Given the description of an element on the screen output the (x, y) to click on. 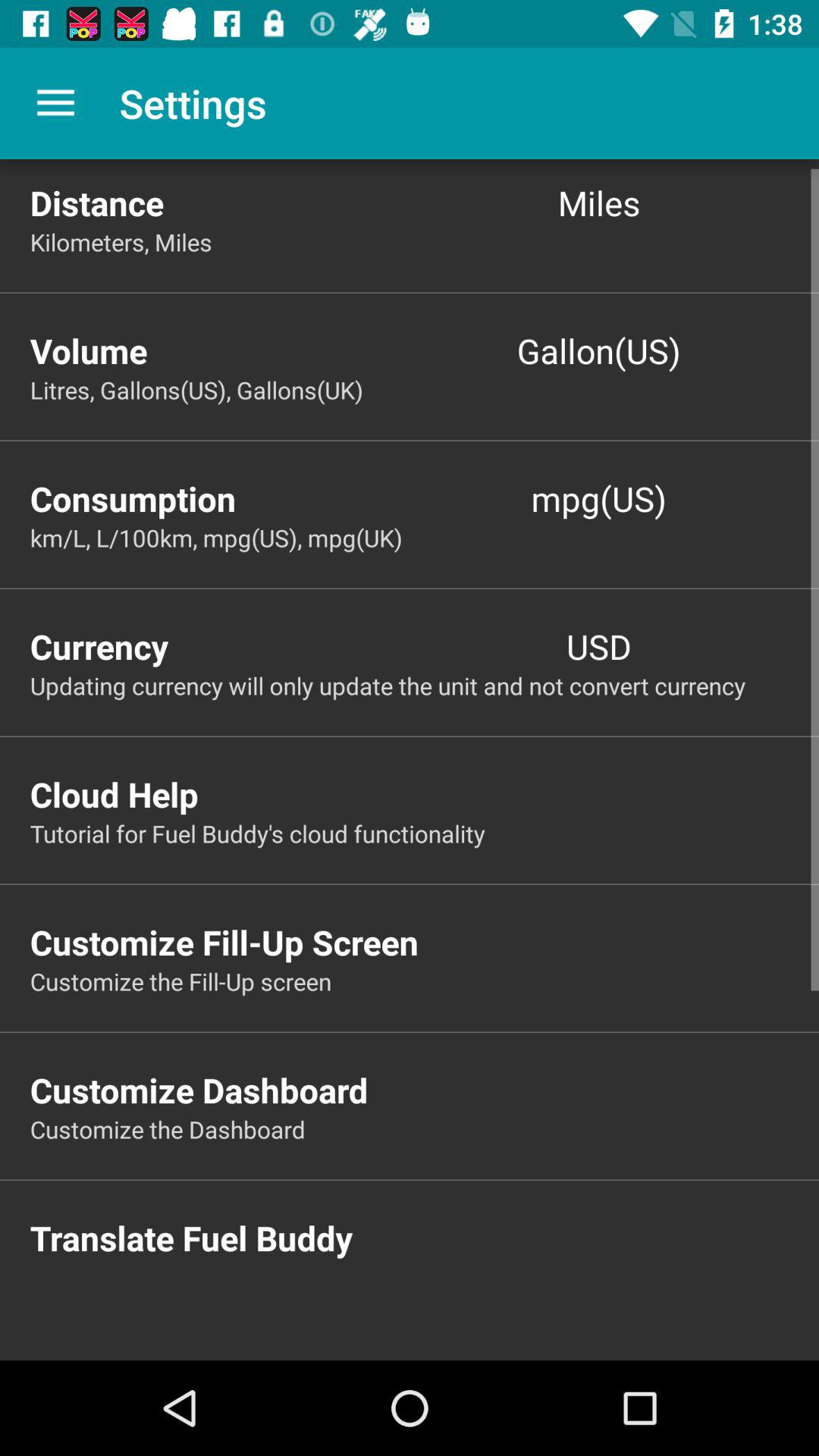
swipe to tutorial for fuel item (424, 833)
